Given the description of an element on the screen output the (x, y) to click on. 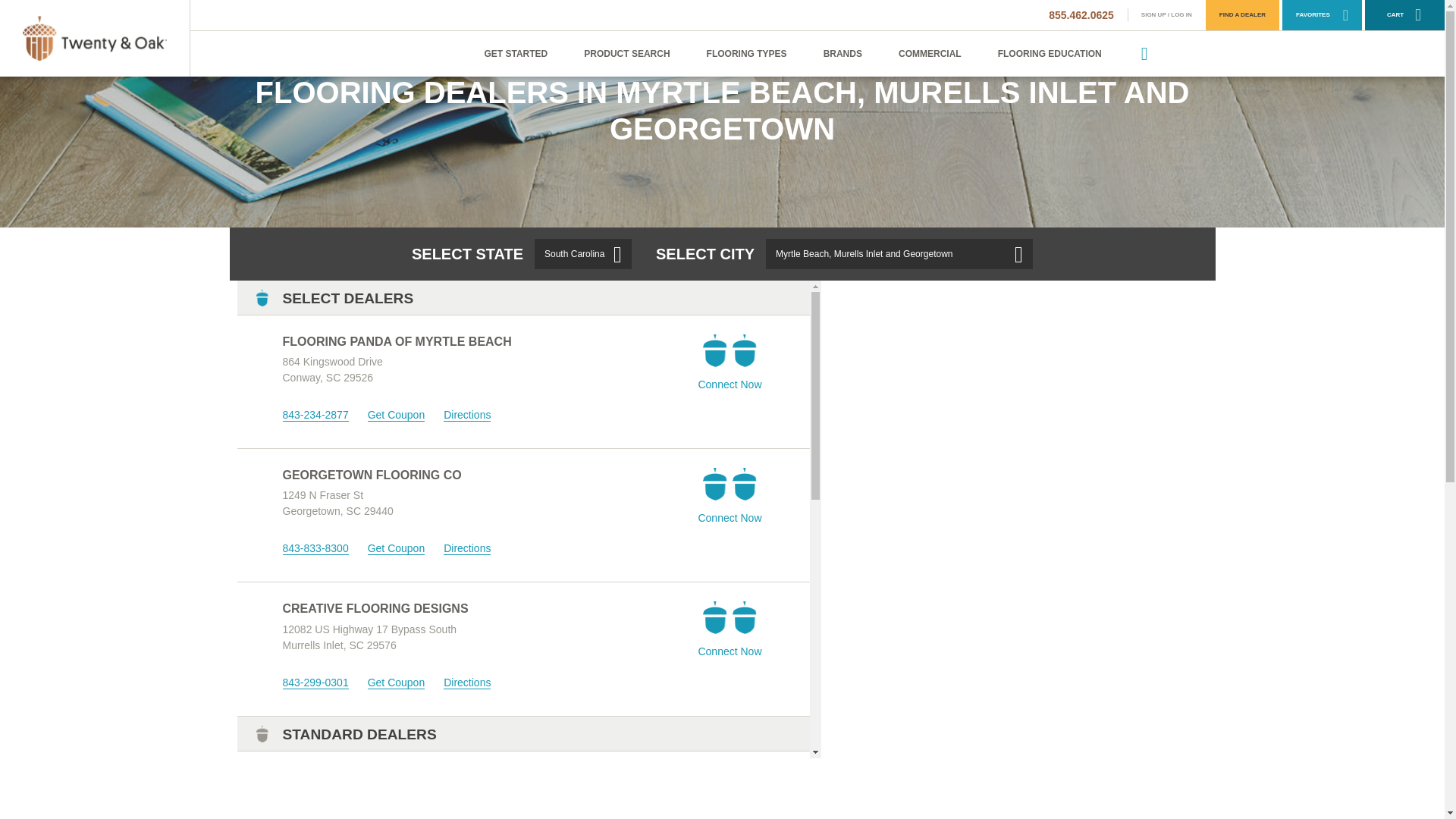
FIND A DEALER (1242, 15)
FAVORITES (1321, 15)
BRANDS (842, 53)
PRODUCT SEARCH (626, 53)
855.462.0625 (1080, 15)
GET STARTED (516, 53)
FLOORING TYPES (746, 53)
